Given the description of an element on the screen output the (x, y) to click on. 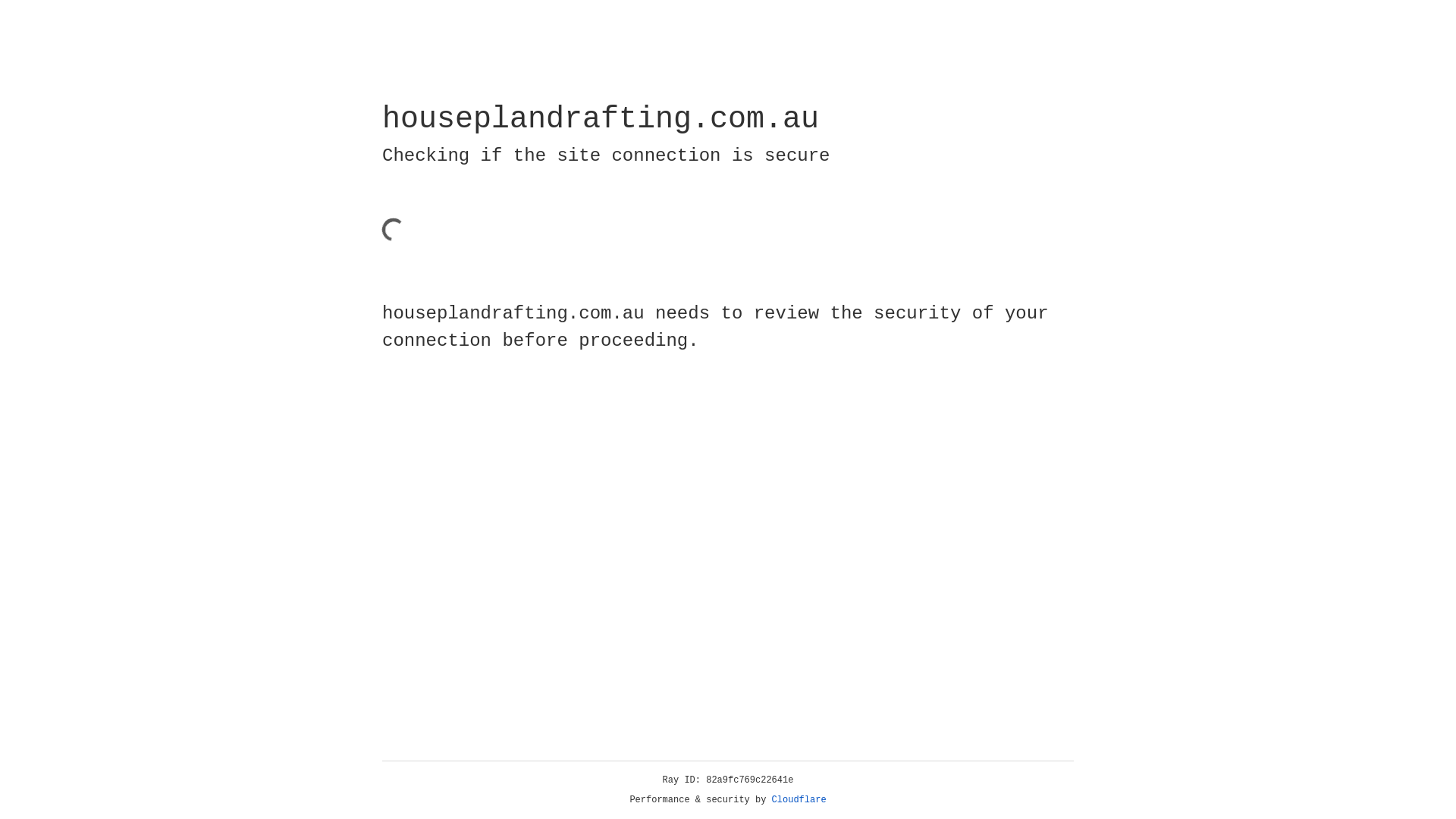
Cloudflare Element type: text (798, 799)
